Given the description of an element on the screen output the (x, y) to click on. 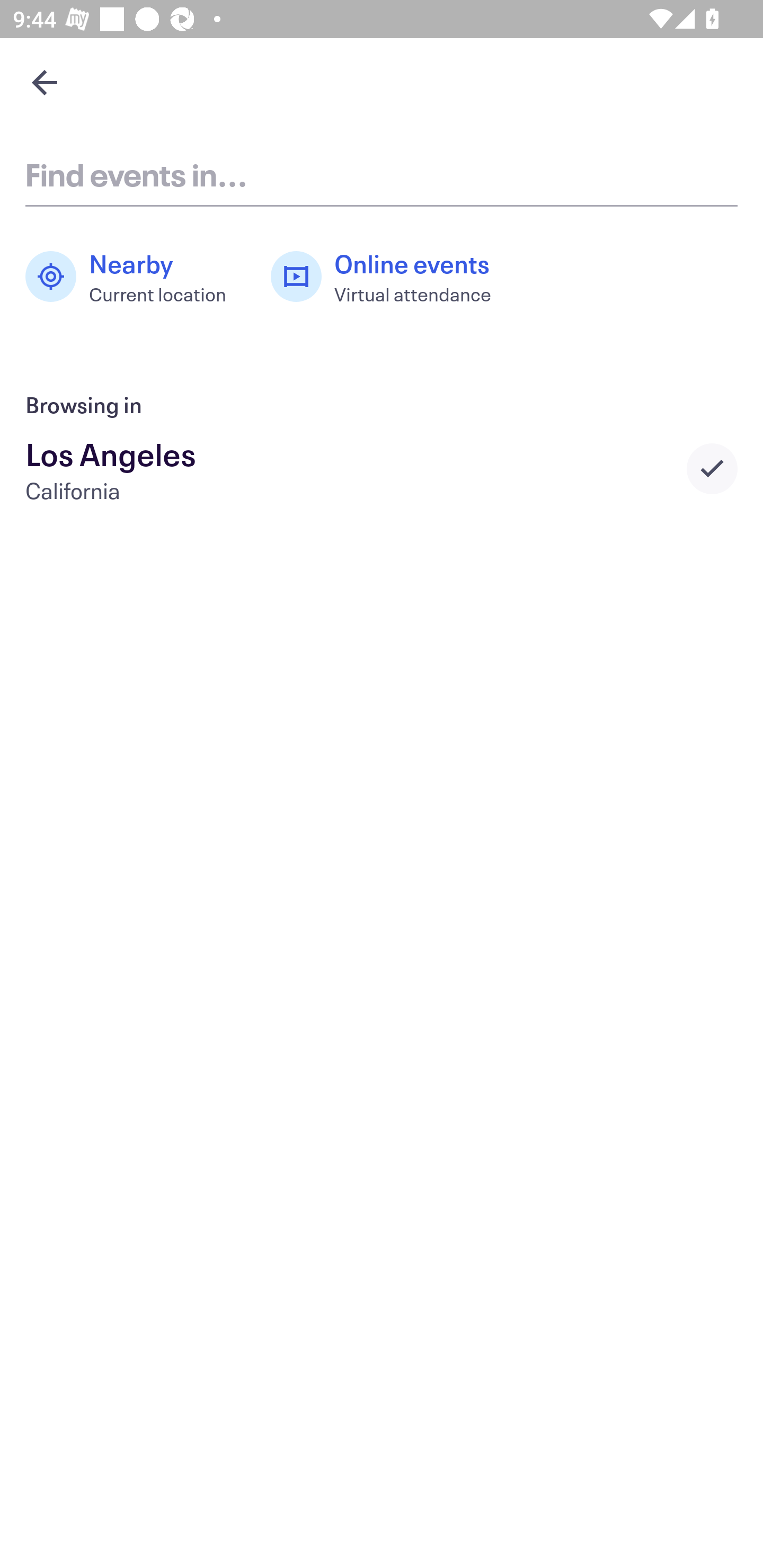
Navigate up (44, 82)
Find events in... (381, 173)
Nearby Current location (135, 276)
Online events Virtual attendance (390, 276)
Los Angeles California Selected city (381, 468)
